Given the description of an element on the screen output the (x, y) to click on. 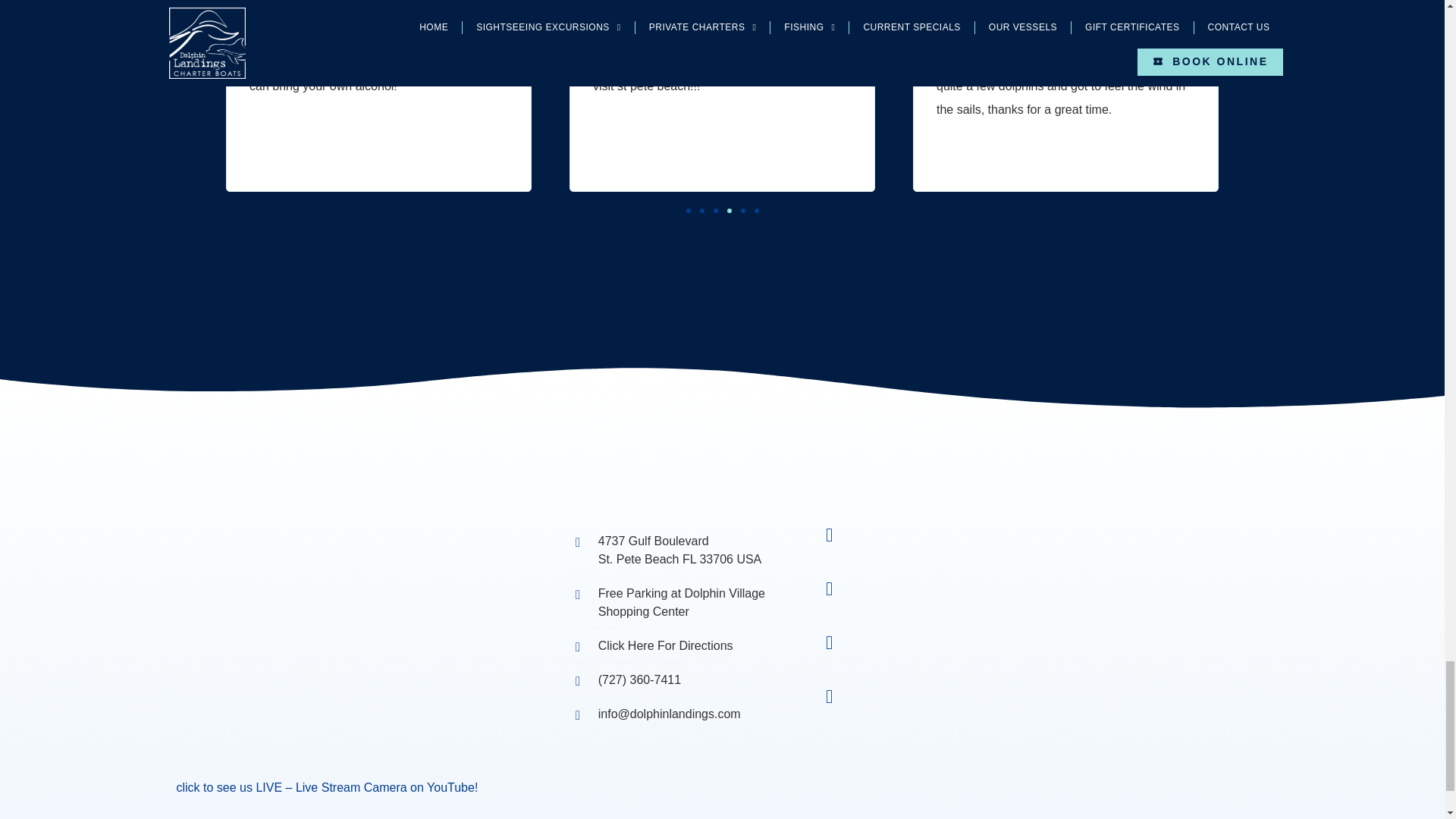
YouTube video player (350, 676)
